Given the description of an element on the screen output the (x, y) to click on. 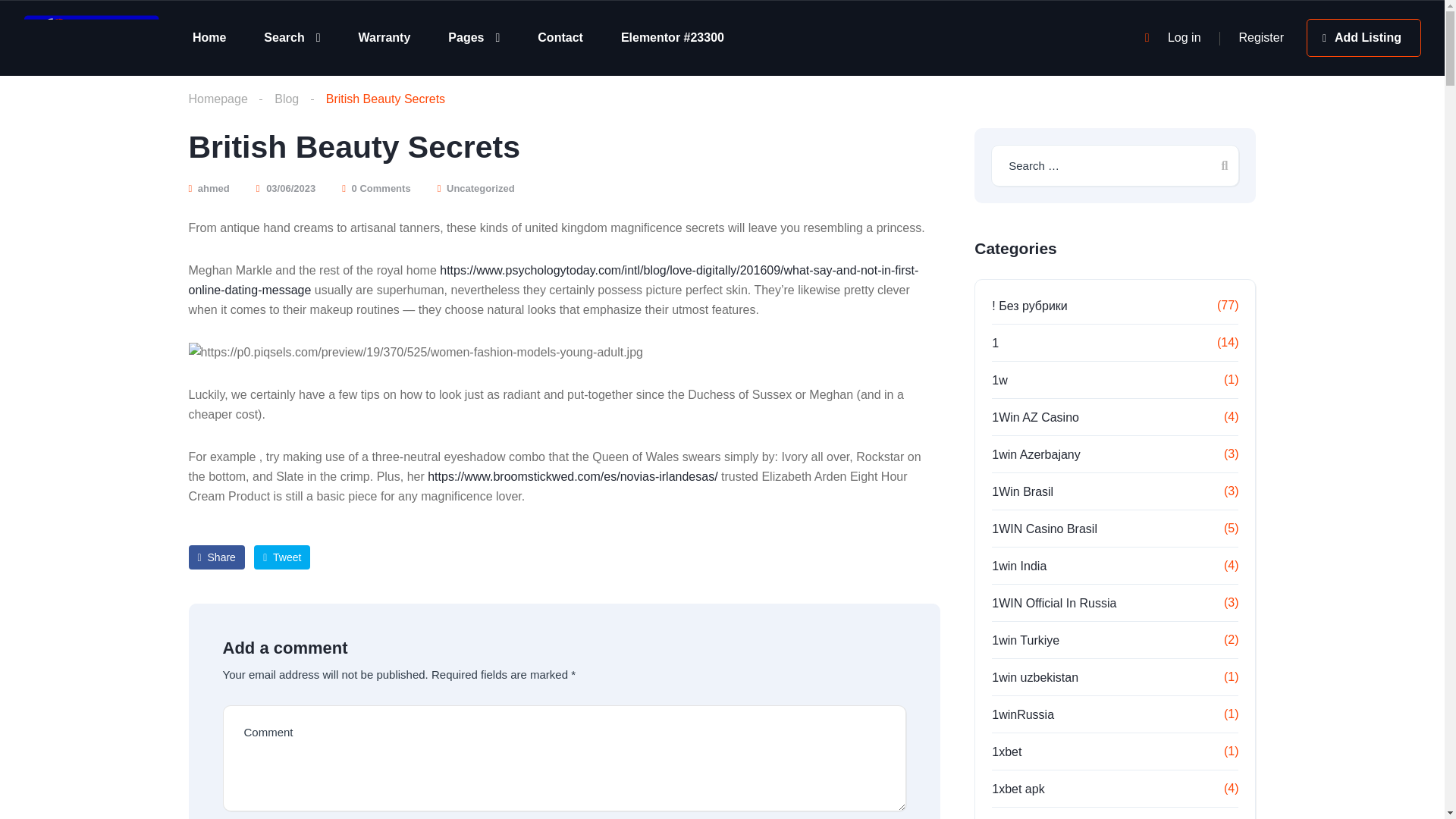
Add Listing (1363, 37)
Zillion Cars (91, 39)
Log in (1185, 37)
Pages (473, 36)
Pages (473, 36)
Register (1261, 37)
Search (291, 36)
Search (291, 36)
Homepage (217, 98)
Warranty (384, 36)
